Given the description of an element on the screen output the (x, y) to click on. 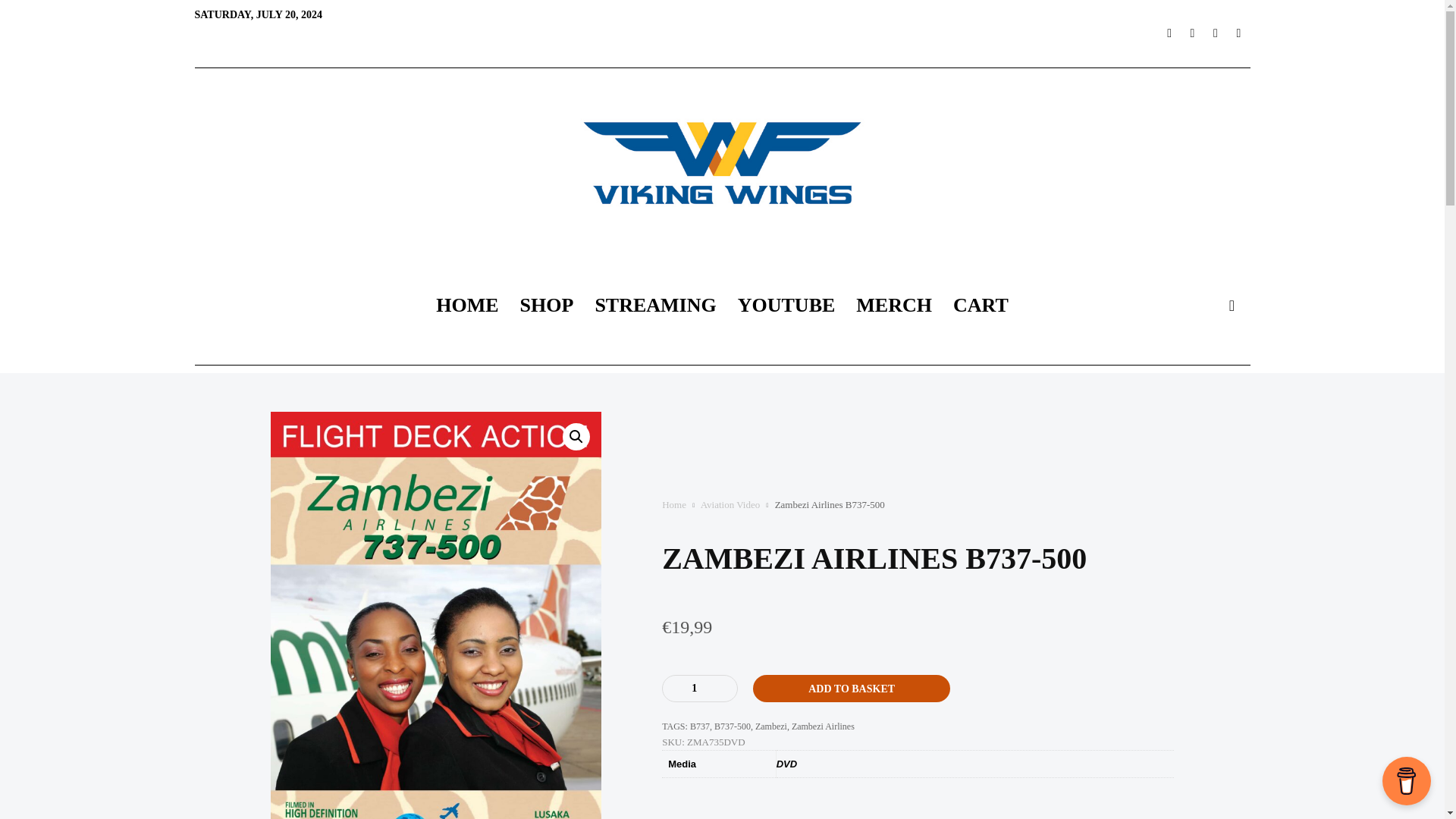
Zambezi Airlines (823, 726)
1 (700, 687)
Zambezi (771, 726)
HOME (466, 305)
Home (673, 504)
Viking Wings - Aviation Videos (721, 162)
SHOP (547, 305)
YOUTUBE (785, 305)
B737 (700, 726)
Instagram (1215, 33)
Aviation Video (730, 504)
Flickr (1238, 33)
ADD TO BASKET (851, 687)
B737-500 (732, 726)
MERCH (893, 305)
